Given the description of an element on the screen output the (x, y) to click on. 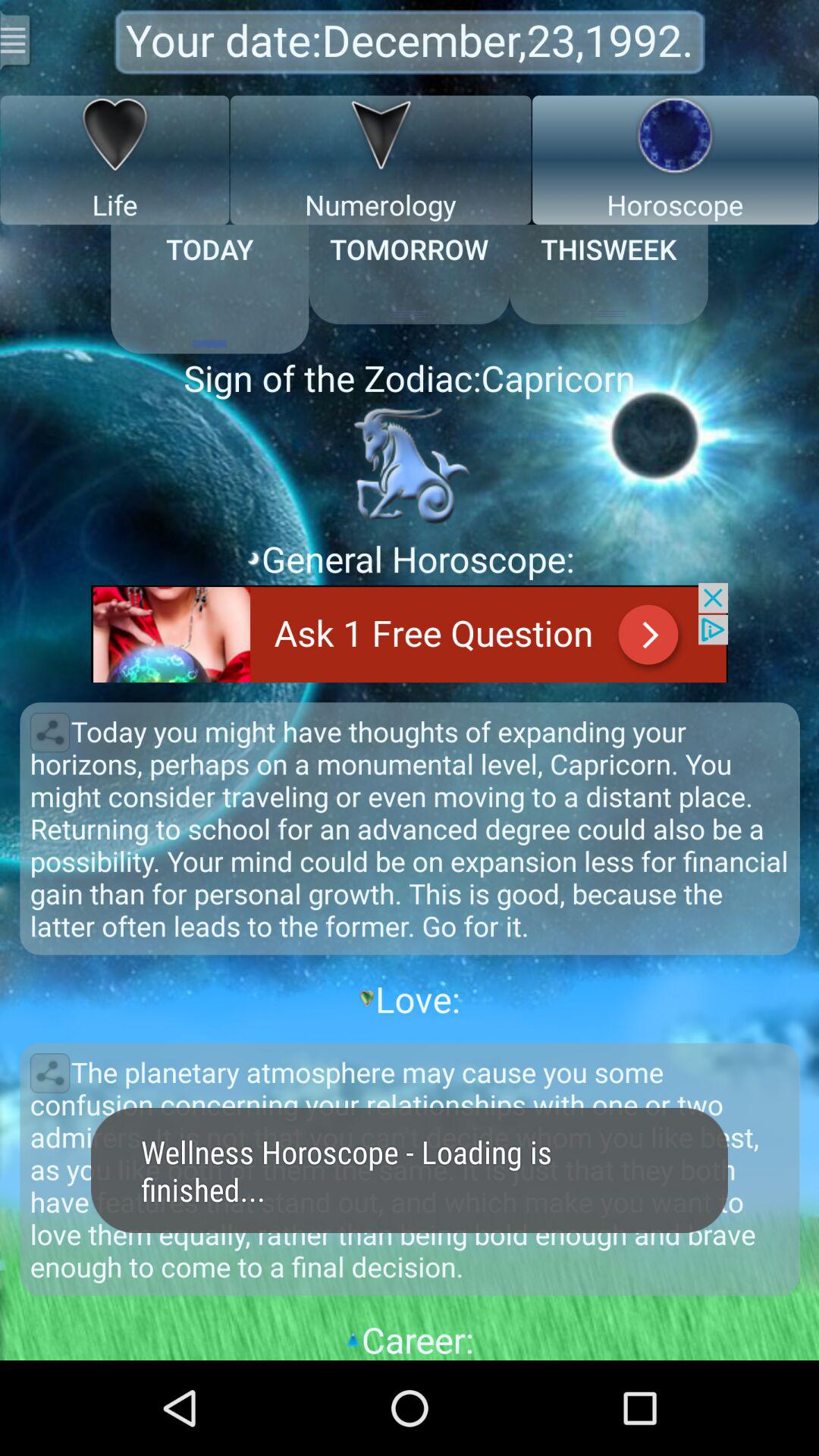
share the quote (49, 1073)
